Given the description of an element on the screen output the (x, y) to click on. 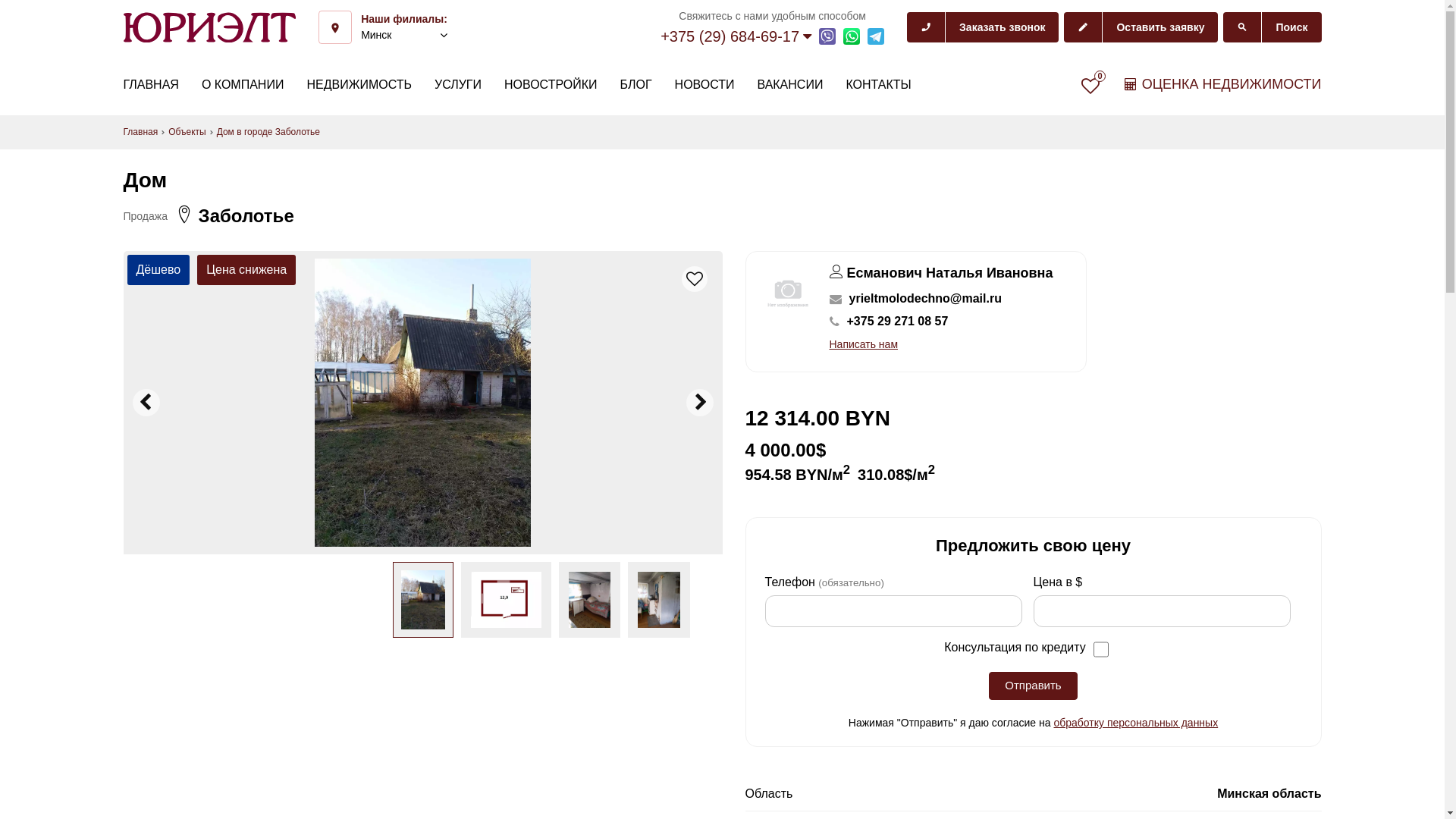
yrieltmolodechno@mail.ru Element type: text (925, 298)
0 Element type: text (1090, 85)
+375 (29) 684-69-17 Element type: text (735, 36)
+375 29 271 08 57 Element type: text (896, 321)
